Given the description of an element on the screen output the (x, y) to click on. 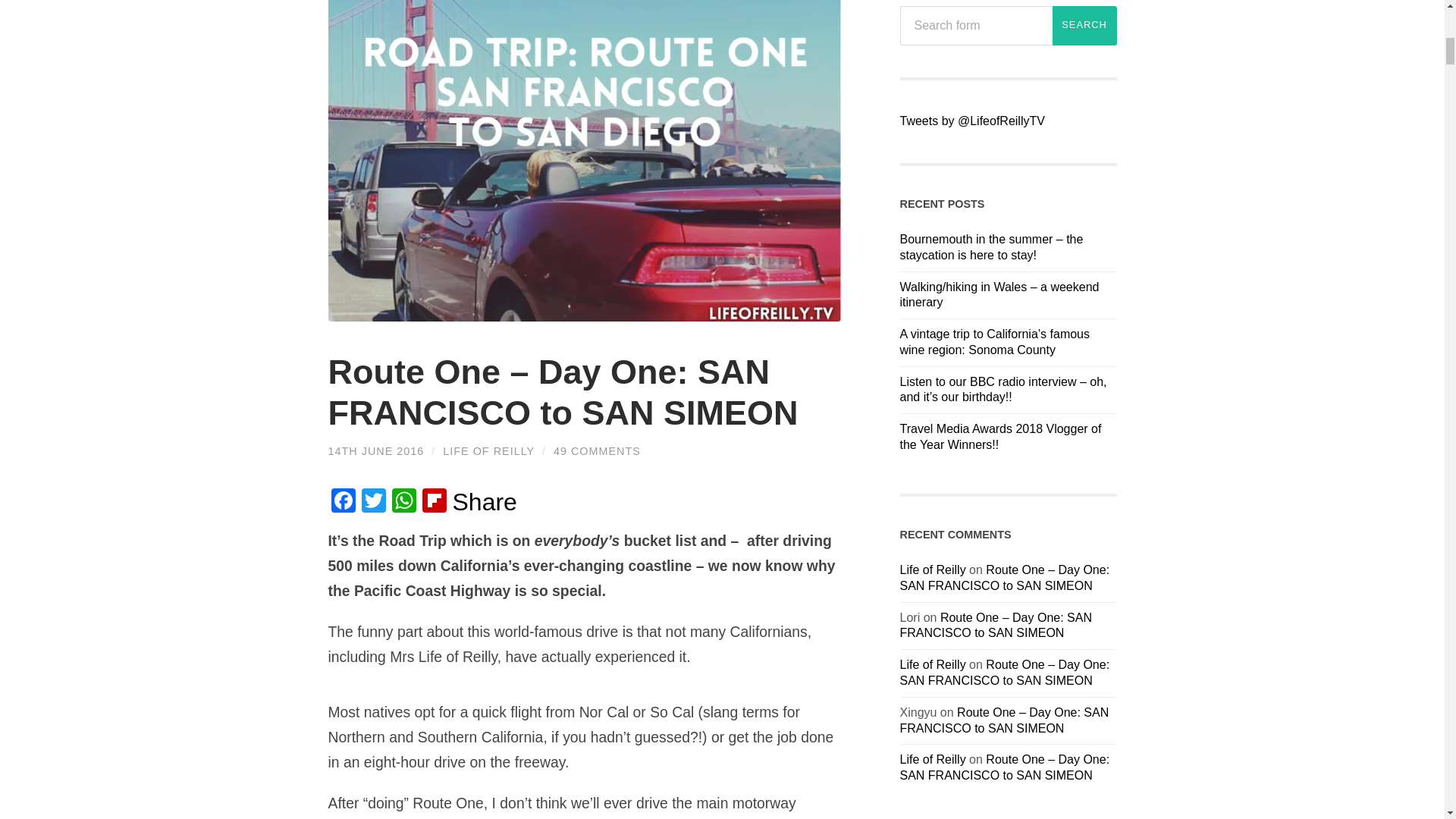
Facebook (342, 502)
Share (483, 501)
Facebook (342, 502)
Twitter (373, 502)
LIFE OF REILLY (488, 451)
Posts by Life of Reilly (488, 451)
WhatsApp (403, 502)
WhatsApp (403, 502)
Flipboard (433, 502)
Search (1084, 25)
Flipboard (433, 502)
Twitter (373, 502)
14TH JUNE 2016 (375, 451)
49 COMMENTS (596, 451)
